Given the description of an element on the screen output the (x, y) to click on. 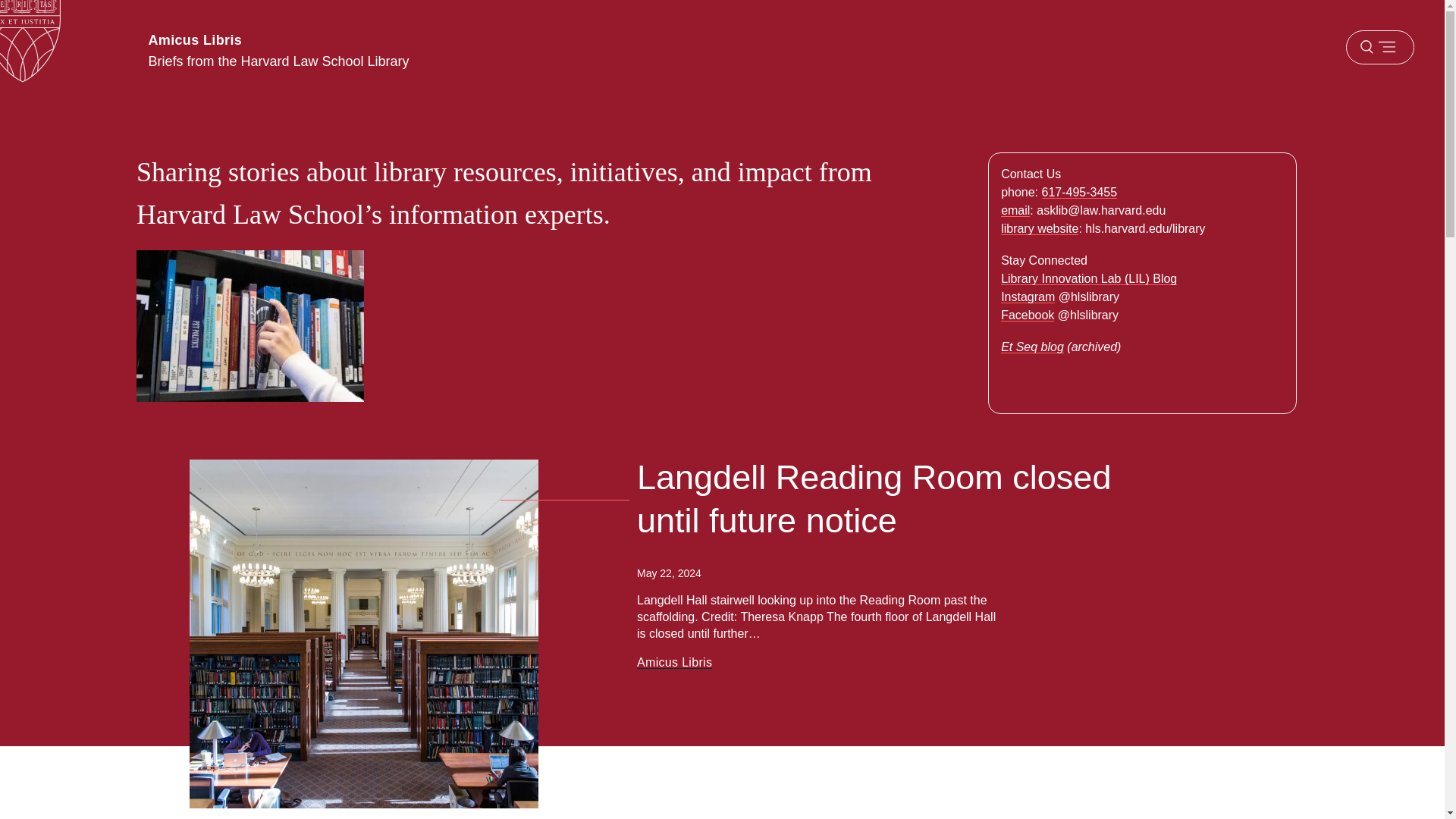
Open menu (1379, 47)
